Given the description of an element on the screen output the (x, y) to click on. 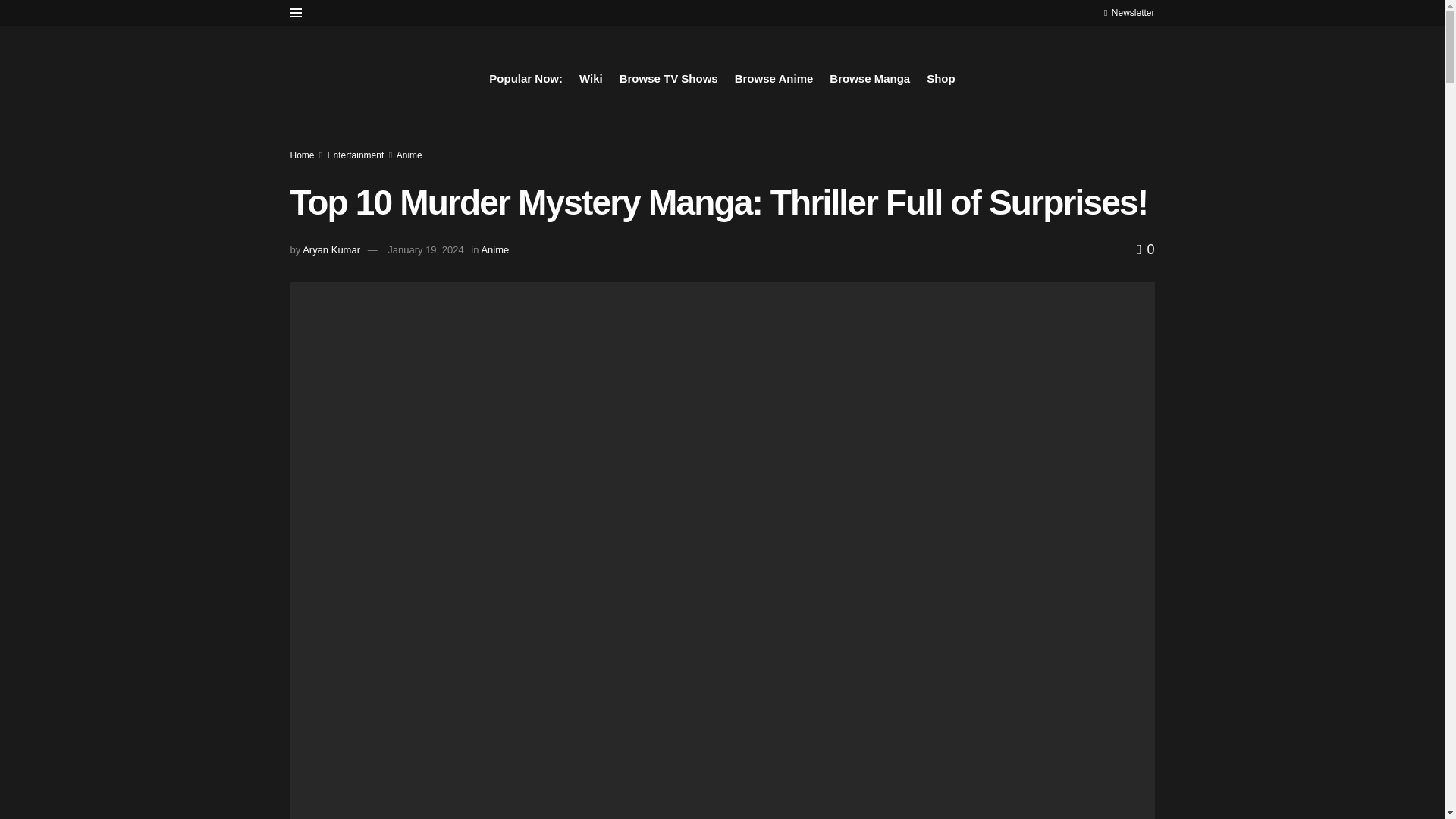
Aryan Kumar (330, 249)
January 19, 2024 (425, 249)
Anime (409, 154)
Popular Now: (525, 78)
Newsletter (1128, 12)
Home (301, 154)
Anime (494, 249)
Browse Manga (869, 78)
Browse TV Shows (668, 78)
